Given the description of an element on the screen output the (x, y) to click on. 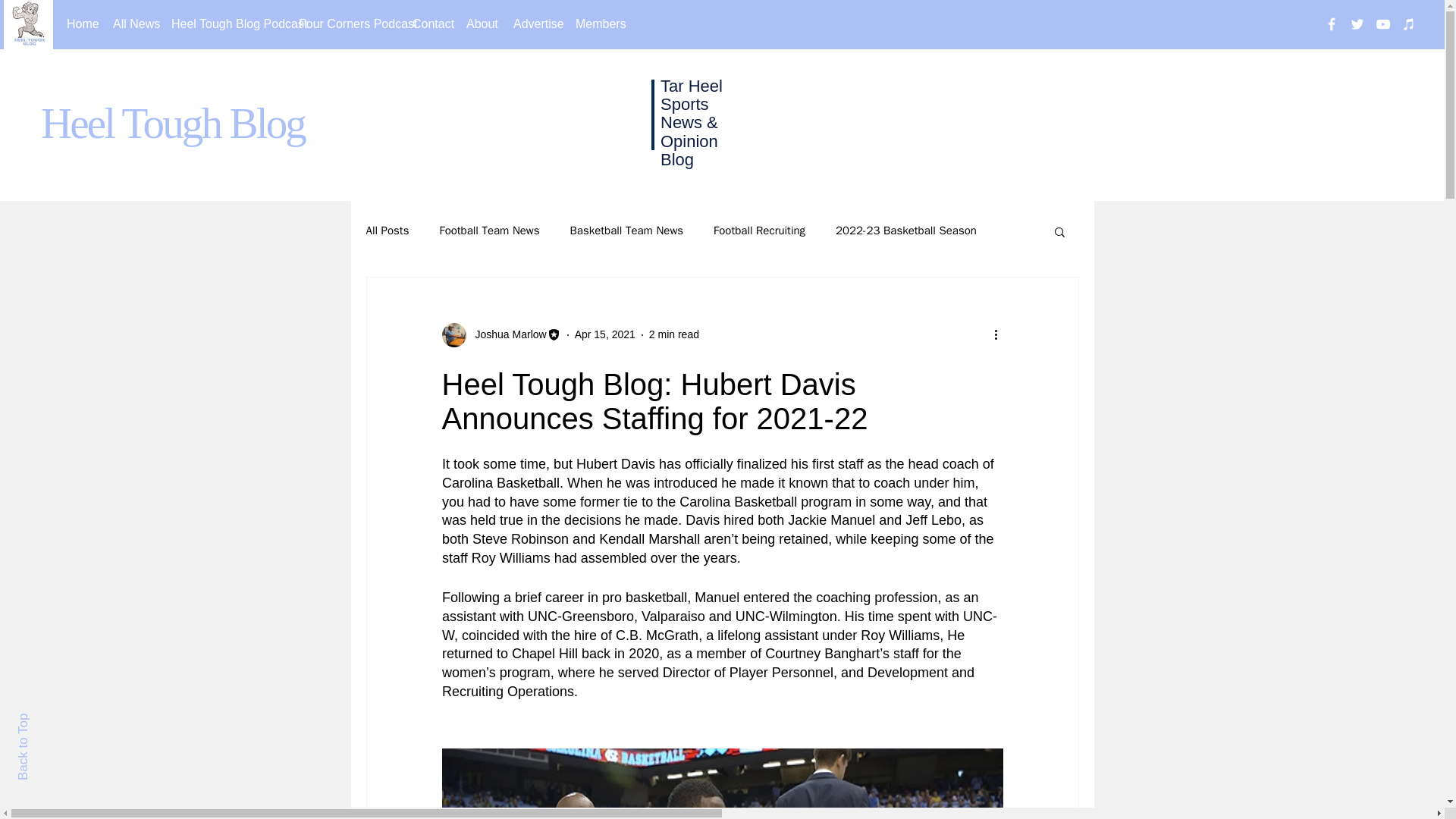
2 min read (673, 334)
Football Recruiting (759, 230)
All News (130, 23)
2022-23 Basketball Season (905, 230)
Contact (427, 23)
Basketball Team News (627, 230)
All Posts (387, 230)
Joshua Marlow (505, 334)
Advertise (533, 23)
Heel Tough Blog (172, 123)
